Given the description of an element on the screen output the (x, y) to click on. 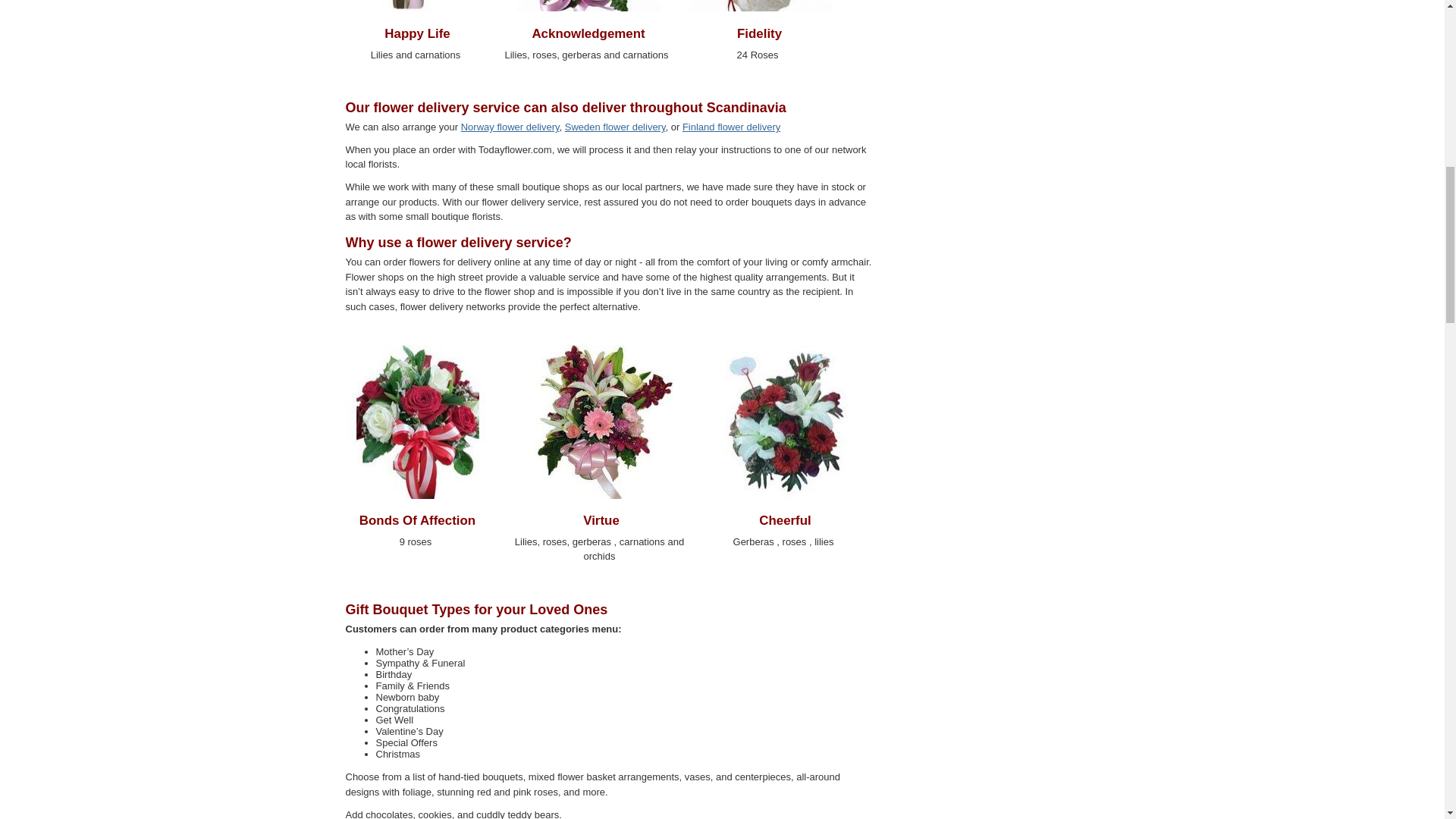
Sweden flower delivery (614, 126)
Finland flower delivery (731, 126)
Norway flower delivery (510, 126)
